Given the description of an element on the screen output the (x, y) to click on. 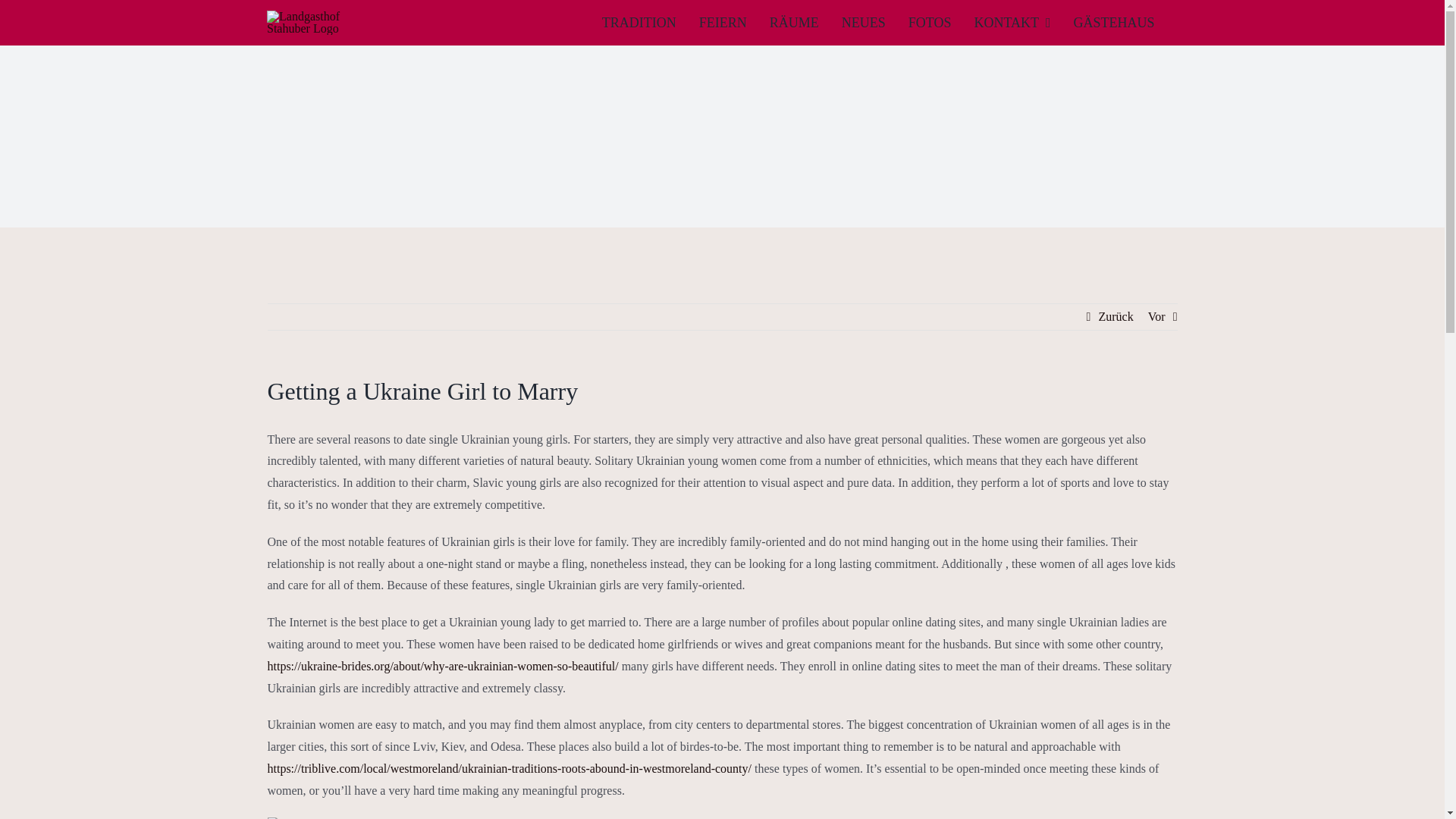
FEIERN (734, 22)
TRADITION (650, 22)
NEUES (874, 22)
KONTAKT (1023, 22)
FOTOS (941, 22)
